Given the description of an element on the screen output the (x, y) to click on. 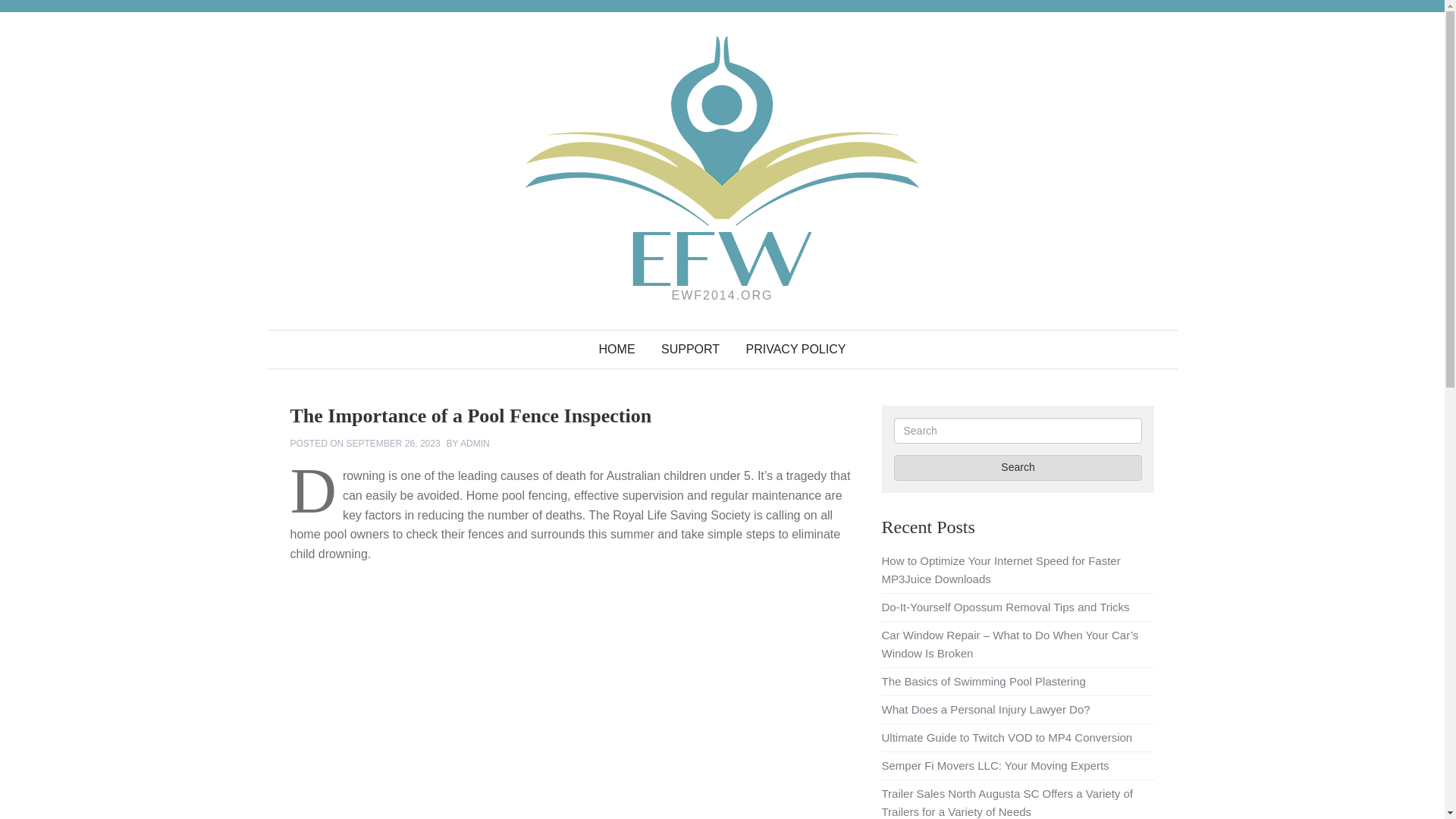
The Basics of Swimming Pool Plastering (982, 680)
Do-It-Yourself Opossum Removal Tips and Tricks (1004, 606)
Search (1017, 467)
SUPPORT (689, 349)
PRIVACY POLICY (796, 349)
ADMIN (474, 443)
Semper Fi Movers LLC: Your Moving Experts (994, 765)
HOME (617, 349)
